Given the description of an element on the screen output the (x, y) to click on. 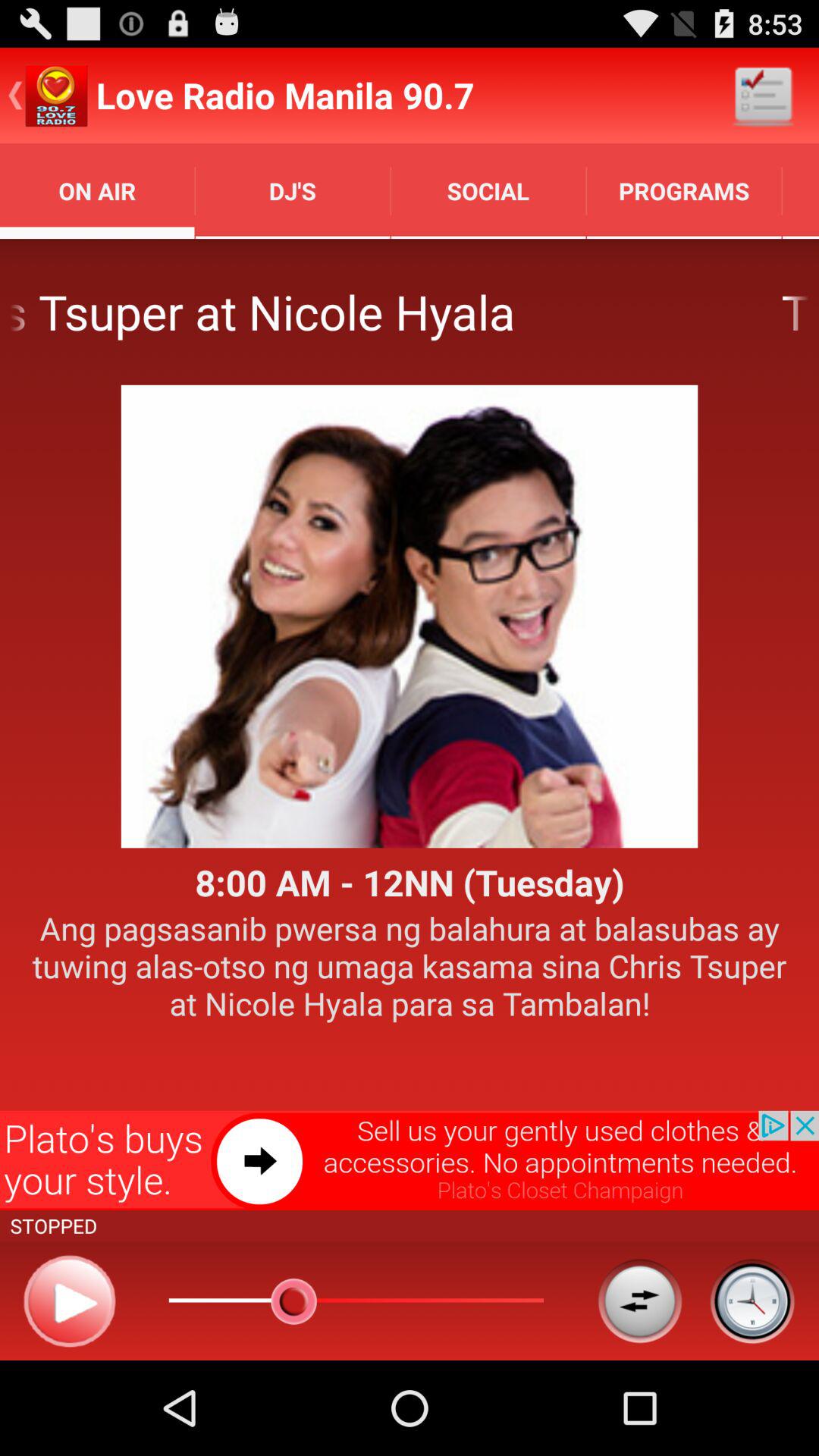
play content (69, 1300)
